Given the description of an element on the screen output the (x, y) to click on. 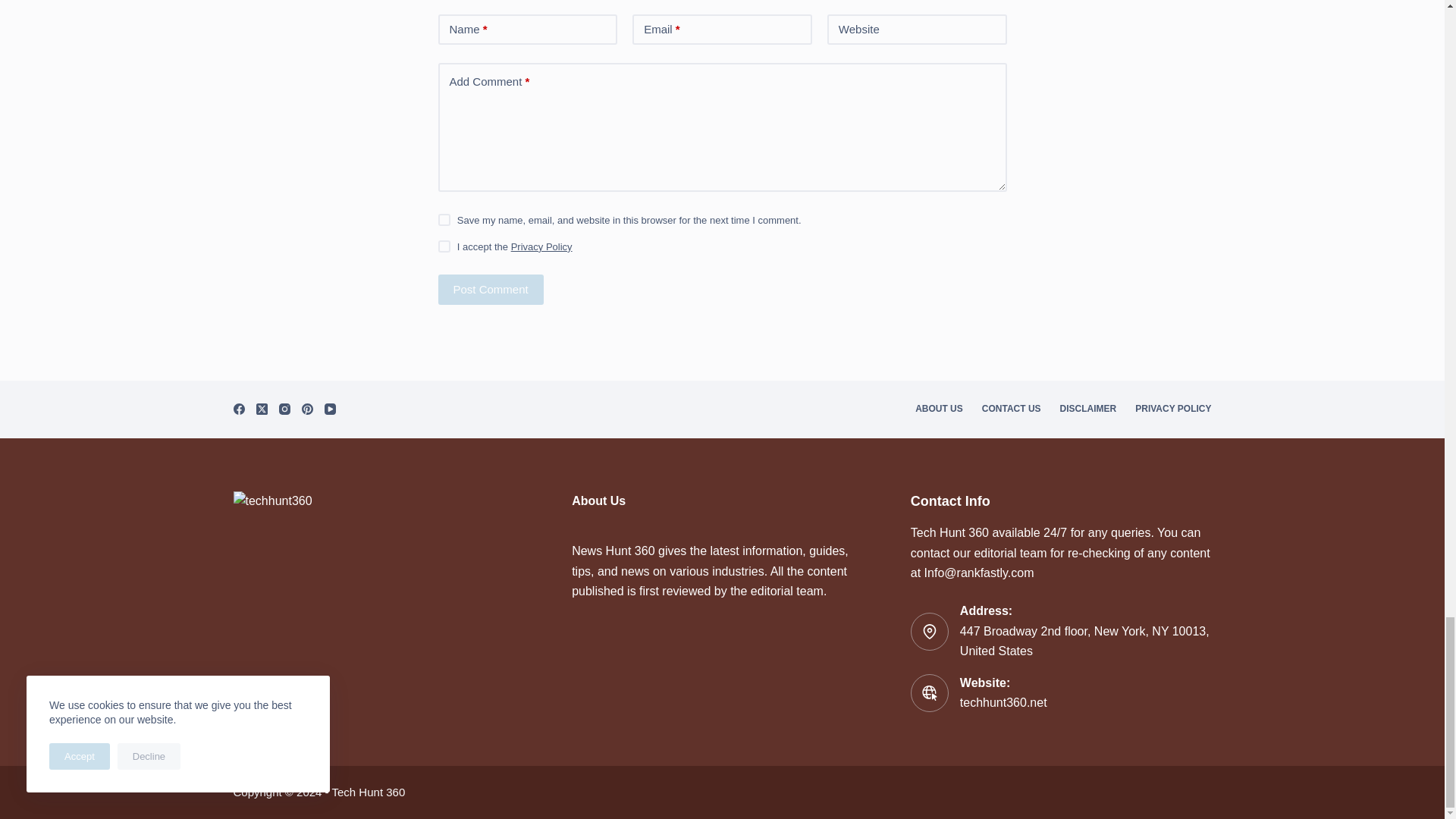
on (443, 246)
yes (443, 219)
